Given the description of an element on the screen output the (x, y) to click on. 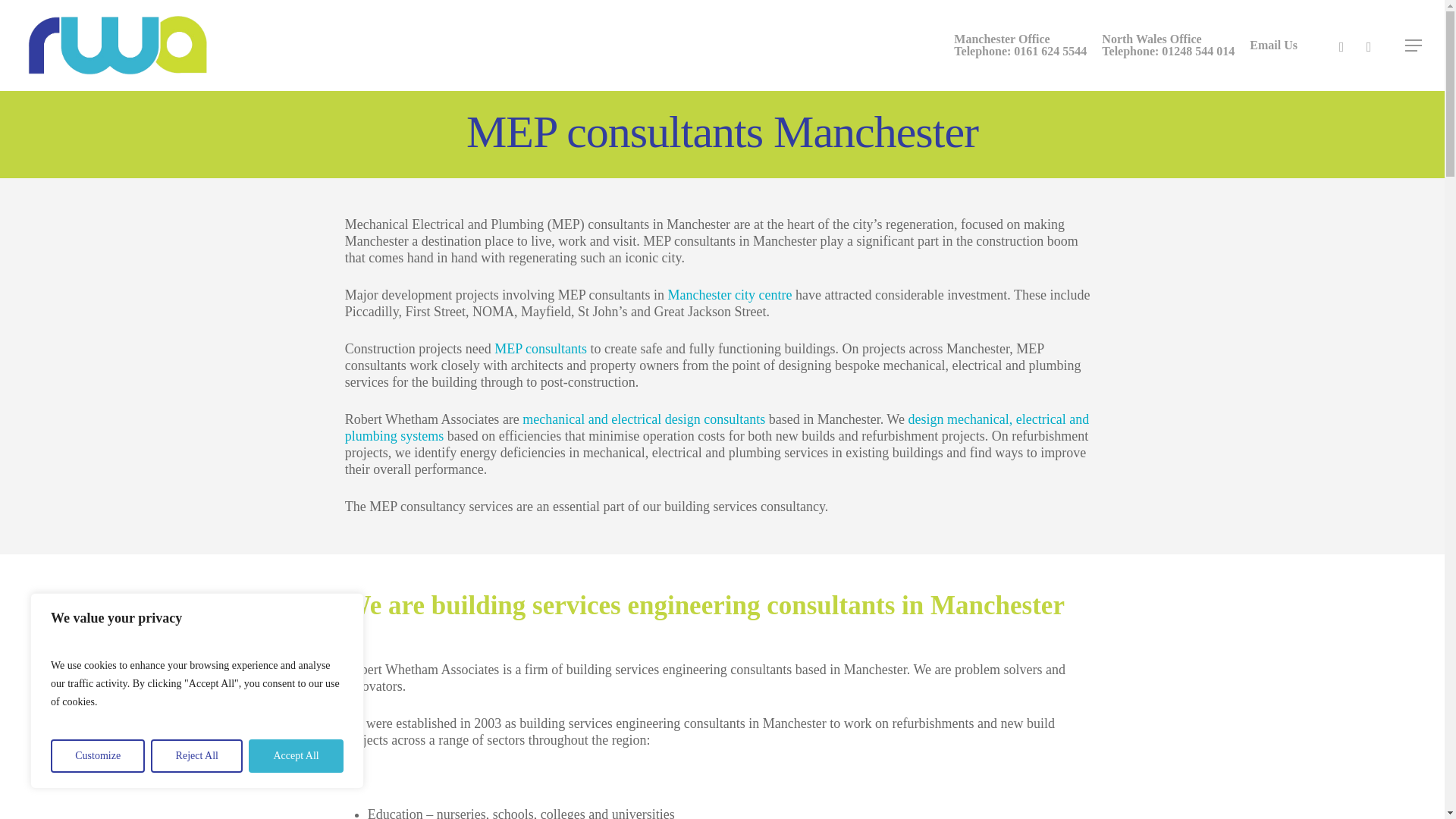
MEP consultants (1019, 45)
Accept All (540, 348)
mechanical and electrical design consultants (295, 756)
Manchester city centre (1168, 45)
Customize (643, 418)
Reject All (730, 294)
Email Us (97, 756)
design mechanical, electrical and plumbing systems (197, 756)
